Given the description of an element on the screen output the (x, y) to click on. 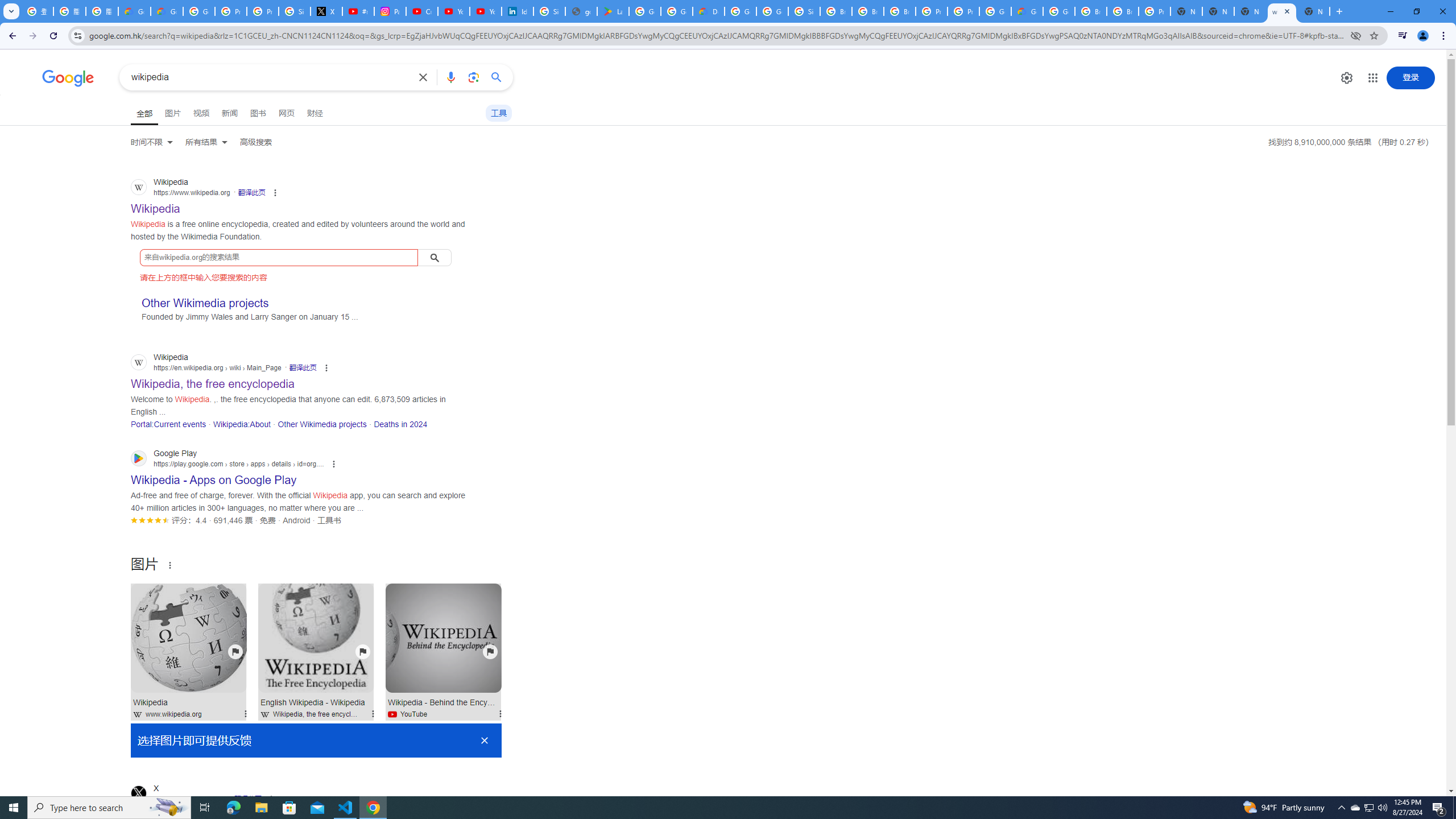
X (326, 11)
 Wikipedia Wikipedia https://www.wikipedia.org (155, 205)
Google Cloud Platform (1059, 11)
Deaths in 2024 (401, 424)
Google Cloud Privacy Notice (134, 11)
#nbabasketballhighlights - YouTube (358, 11)
